Given the description of an element on the screen output the (x, y) to click on. 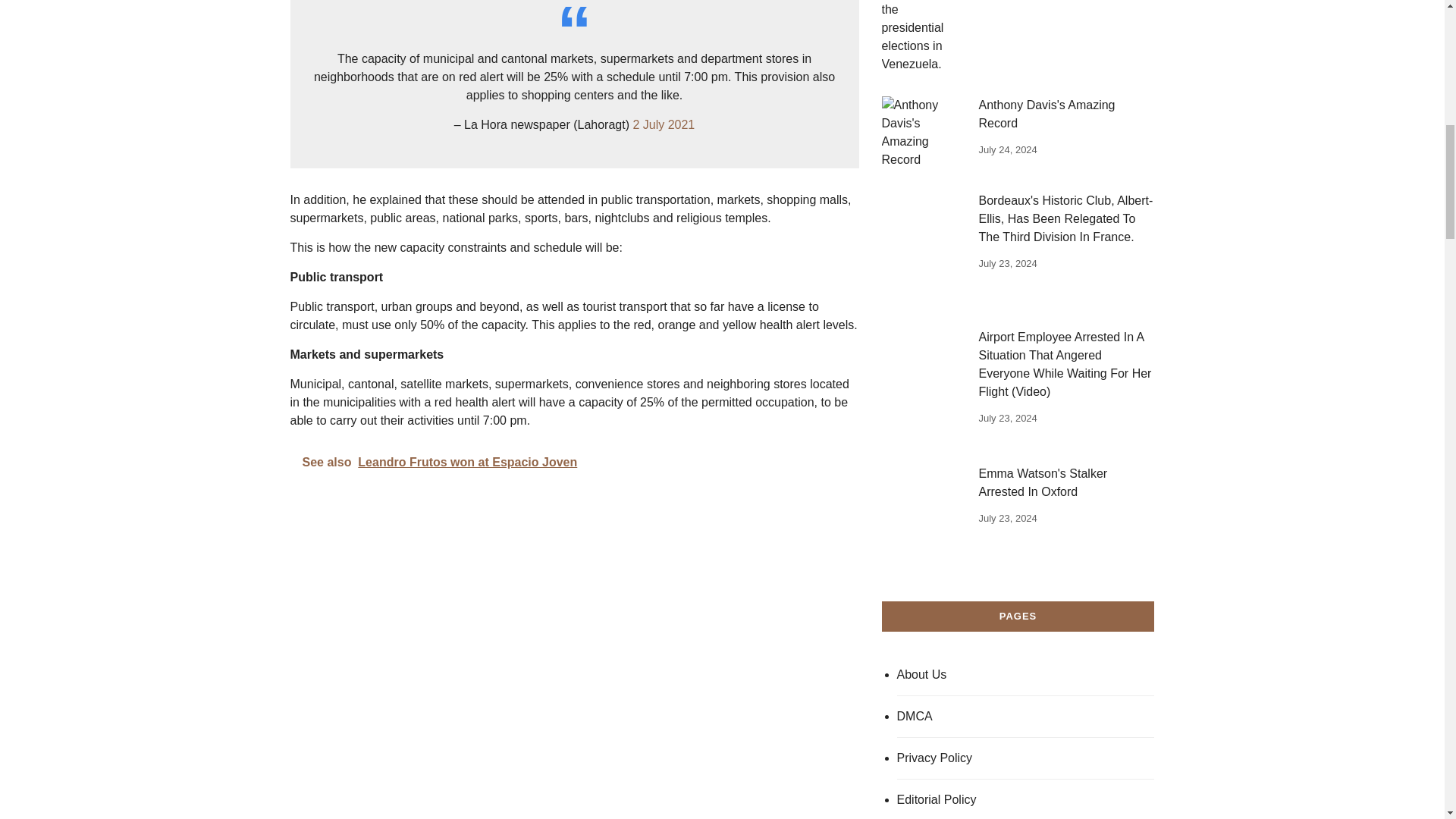
Anthony Davis's Amazing Record (921, 132)
See also  Leandro Frutos won at Espacio Joven (574, 462)
2 July 2021 (662, 124)
